Given the description of an element on the screen output the (x, y) to click on. 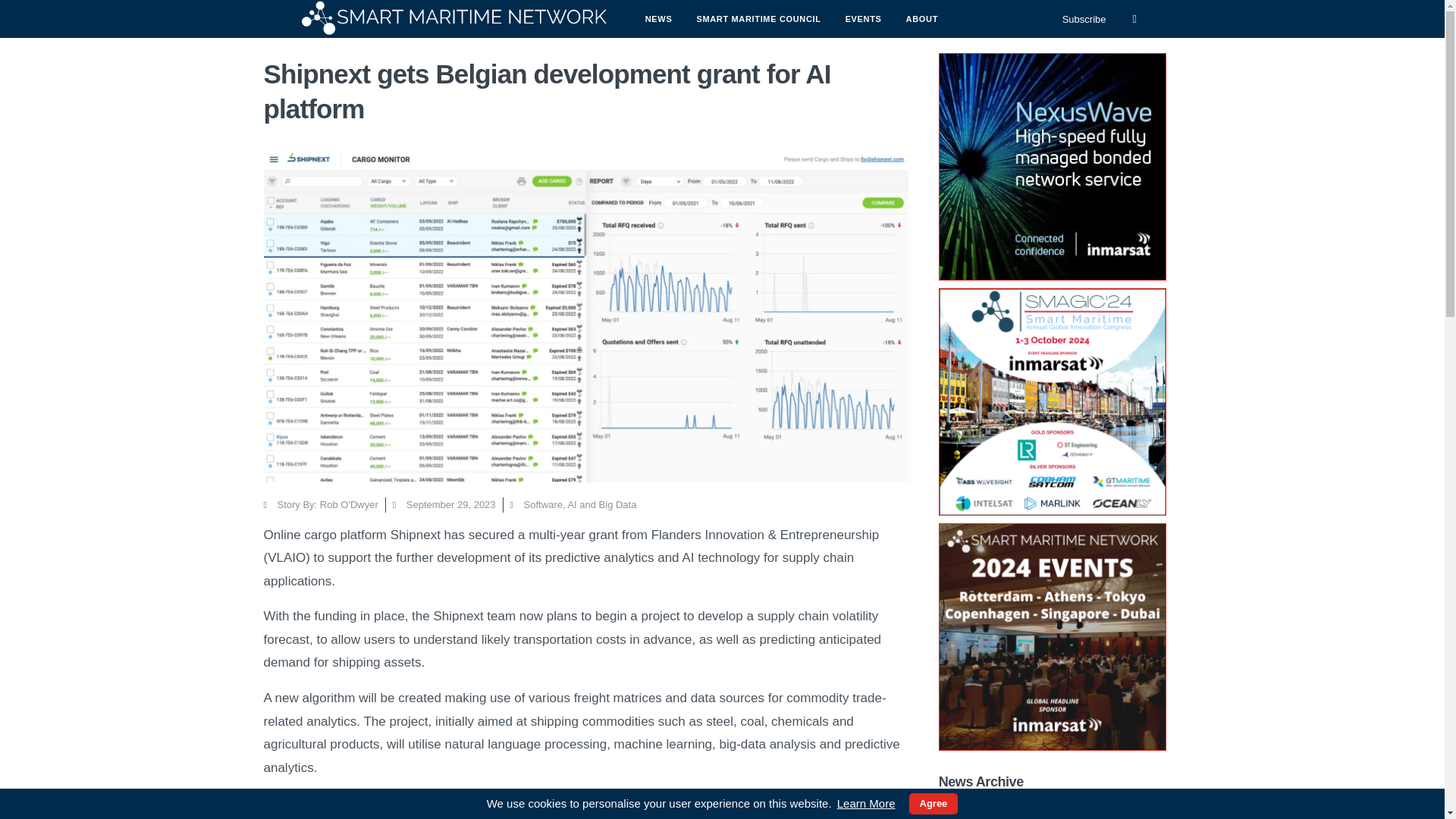
SMART MARITIME COUNCIL (758, 18)
Agree (933, 803)
NEWS (658, 18)
Learn More (866, 803)
